Given the description of an element on the screen output the (x, y) to click on. 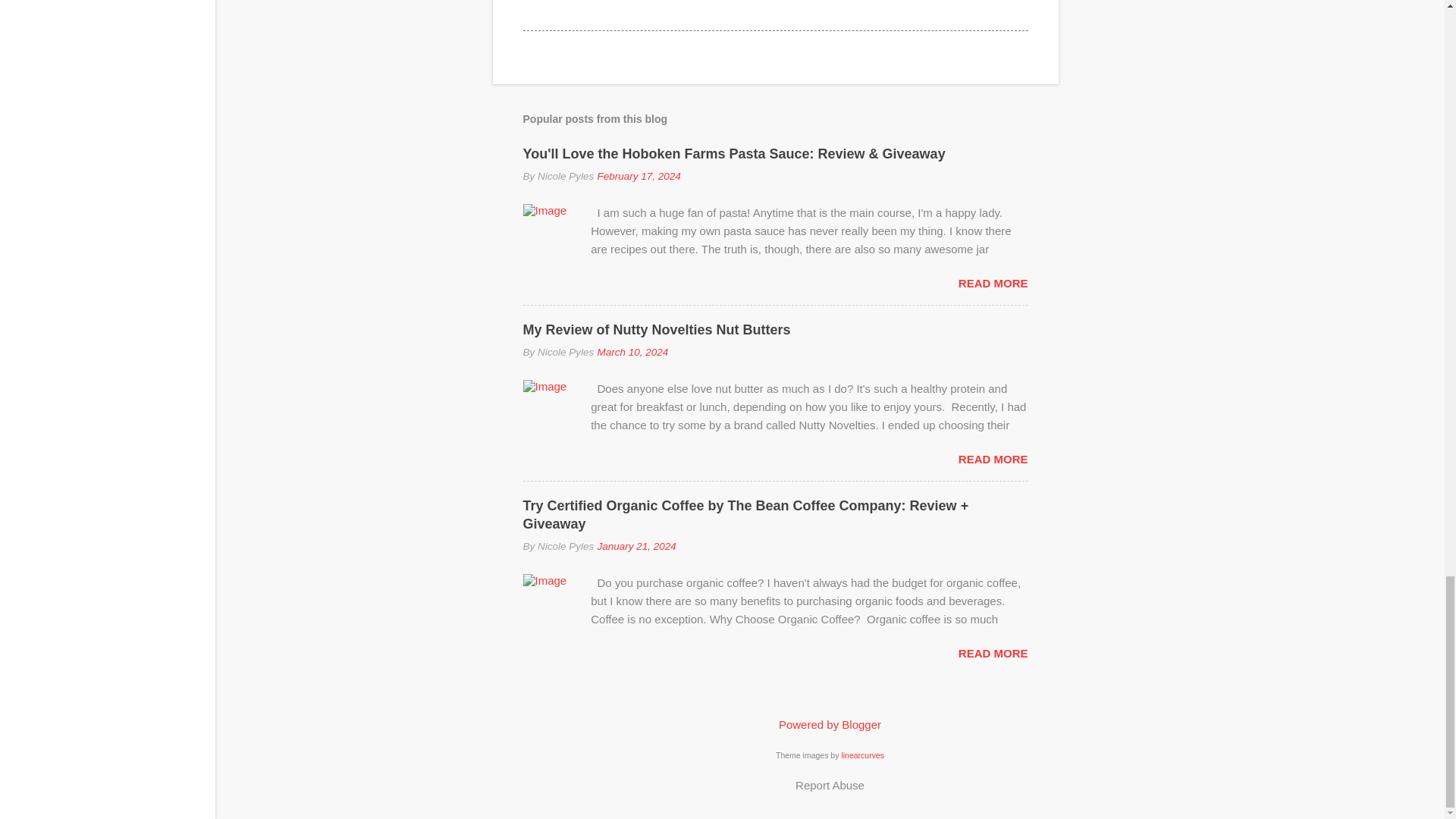
February 17, 2024 (637, 175)
READ MORE (992, 653)
January 21, 2024 (635, 546)
My Review of Nutty Novelties Nut Butters (656, 329)
March 10, 2024 (632, 351)
Powered by Blogger (829, 724)
READ MORE (992, 459)
permanent link (637, 175)
READ MORE (992, 282)
linearcurves (862, 755)
Report Abuse (829, 785)
